Given the description of an element on the screen output the (x, y) to click on. 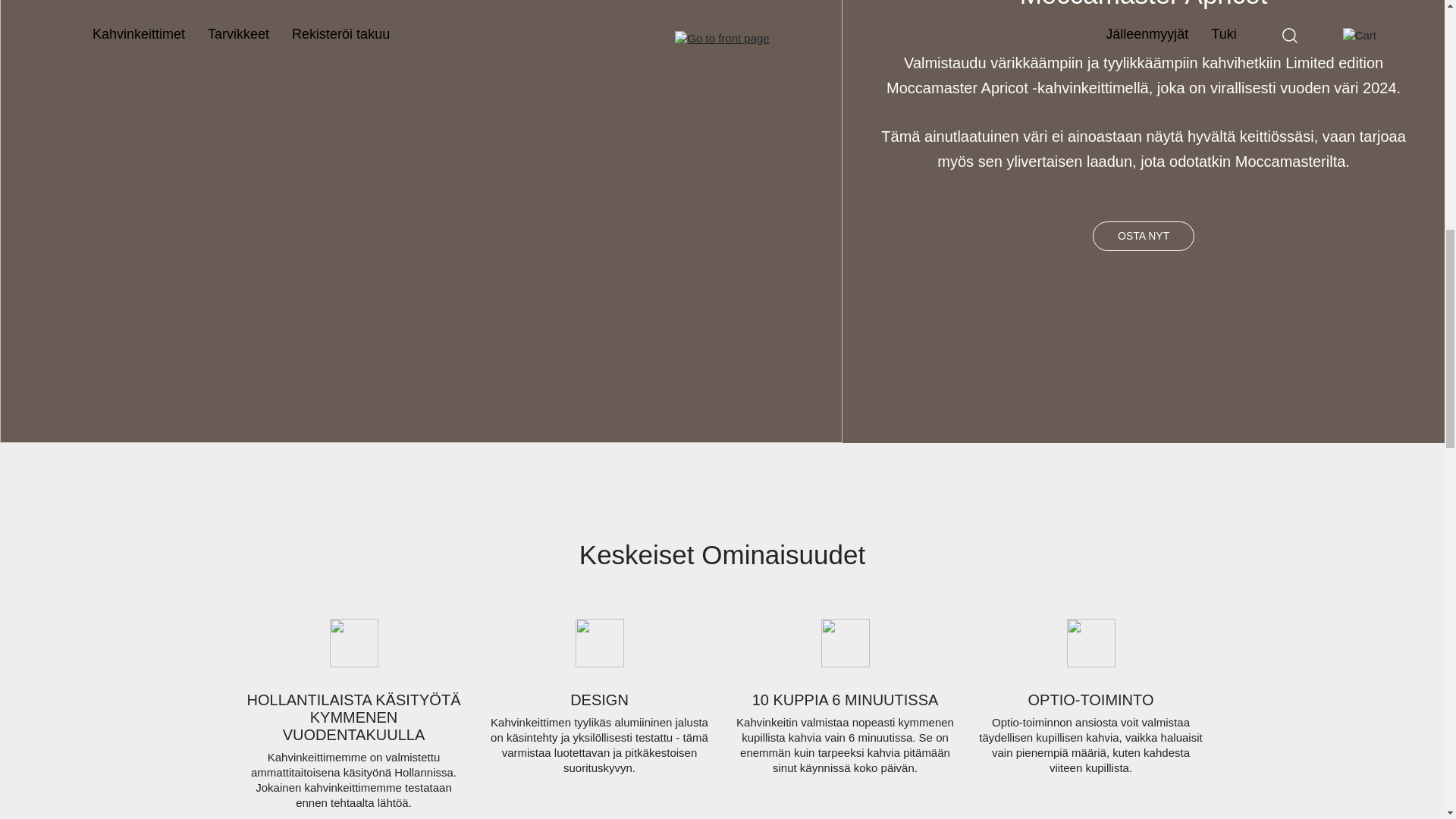
OSTA NYT (1143, 235)
